Given the description of an element on the screen output the (x, y) to click on. 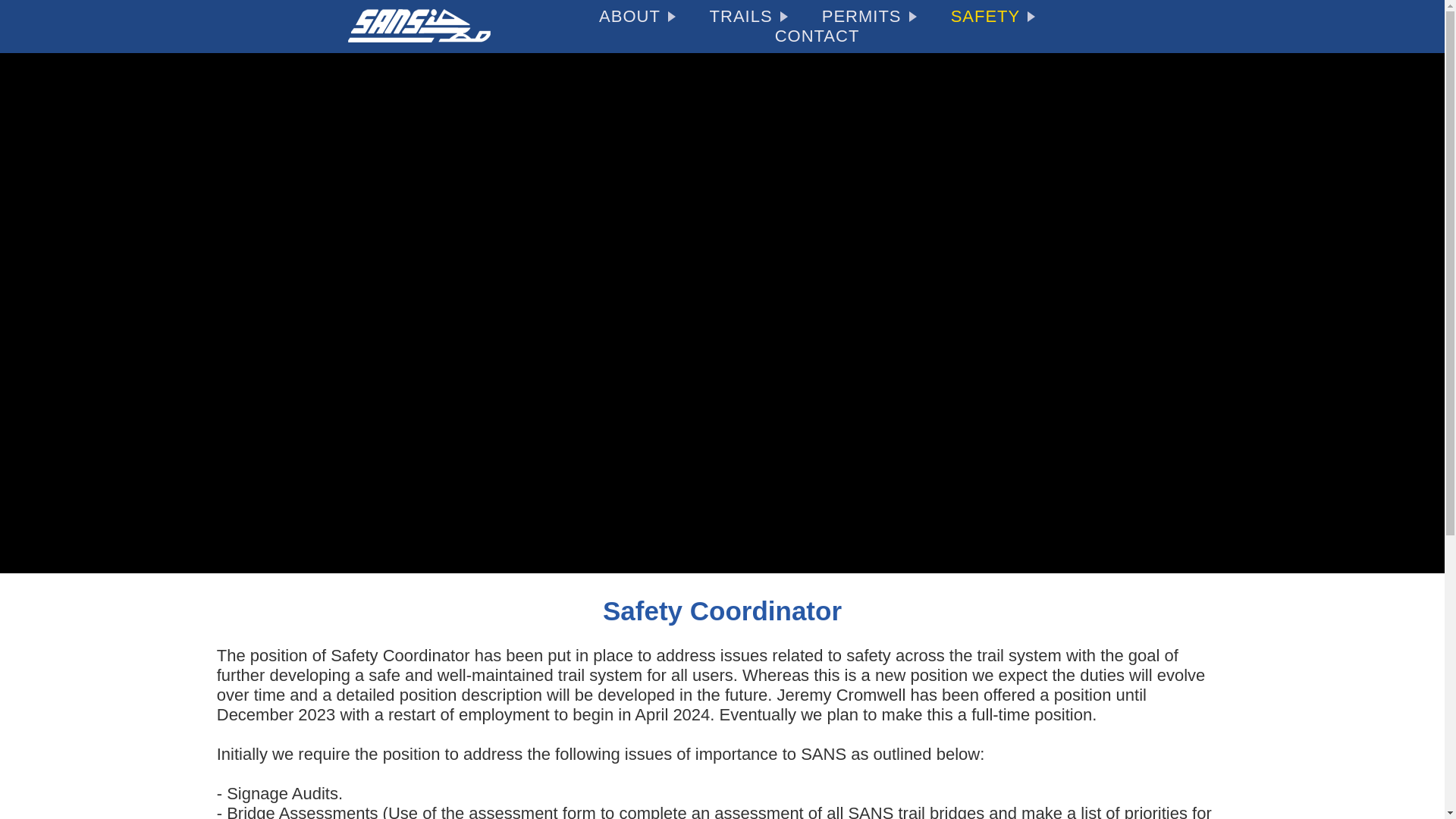
SAFETY (992, 15)
PERMITS (869, 17)
ABOUT (636, 17)
TRAILS (748, 17)
